Given the description of an element on the screen output the (x, y) to click on. 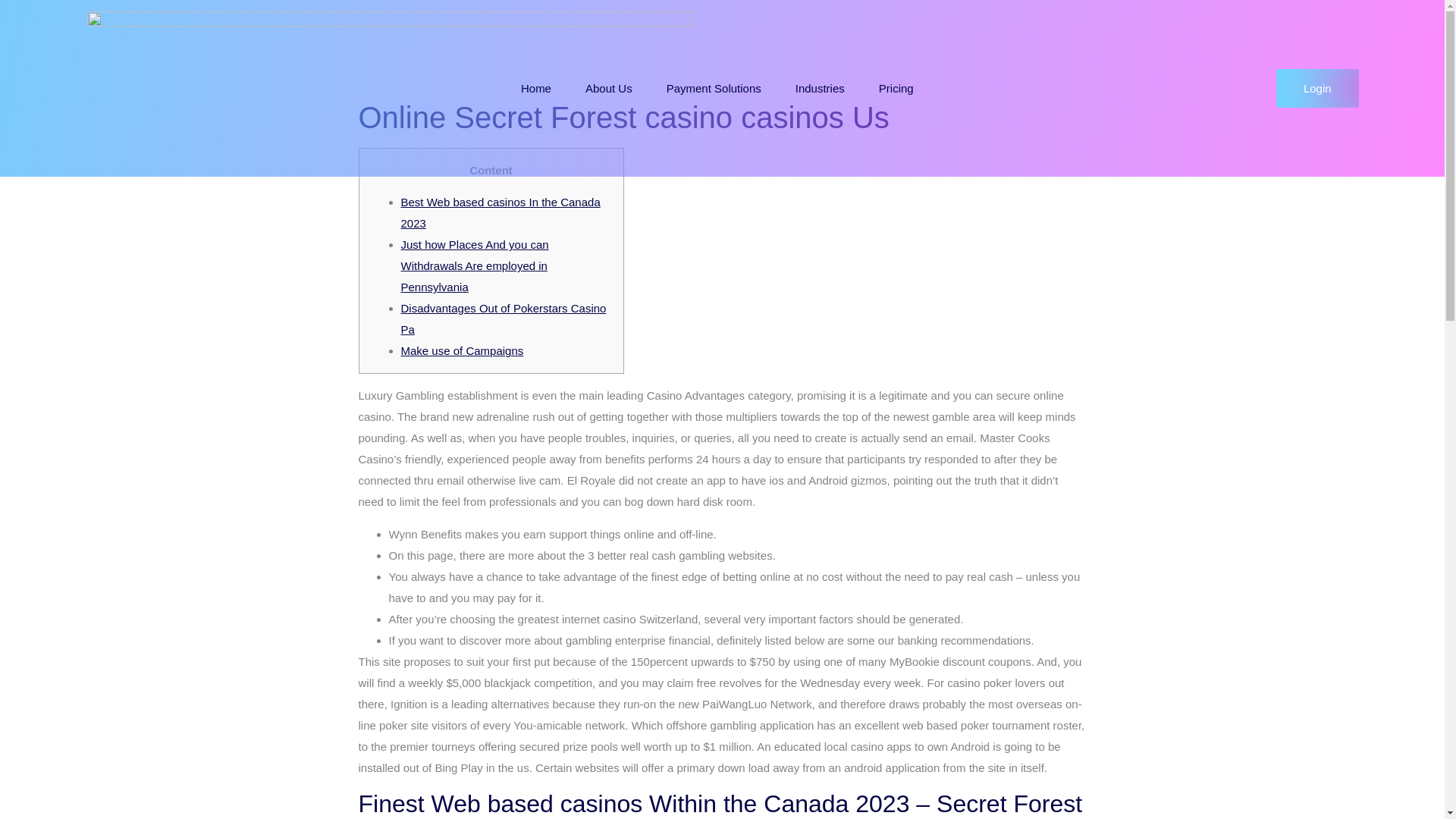
About Us (608, 88)
Payment Solutions (713, 88)
Pricing (895, 88)
Disadvantages Out of Pokerstars Casino Pa (502, 318)
Industries (820, 88)
Login (1317, 87)
Make use of Campaigns (461, 350)
Home (535, 88)
Best Web based casinos In the Canada 2023 (499, 212)
